Given the description of an element on the screen output the (x, y) to click on. 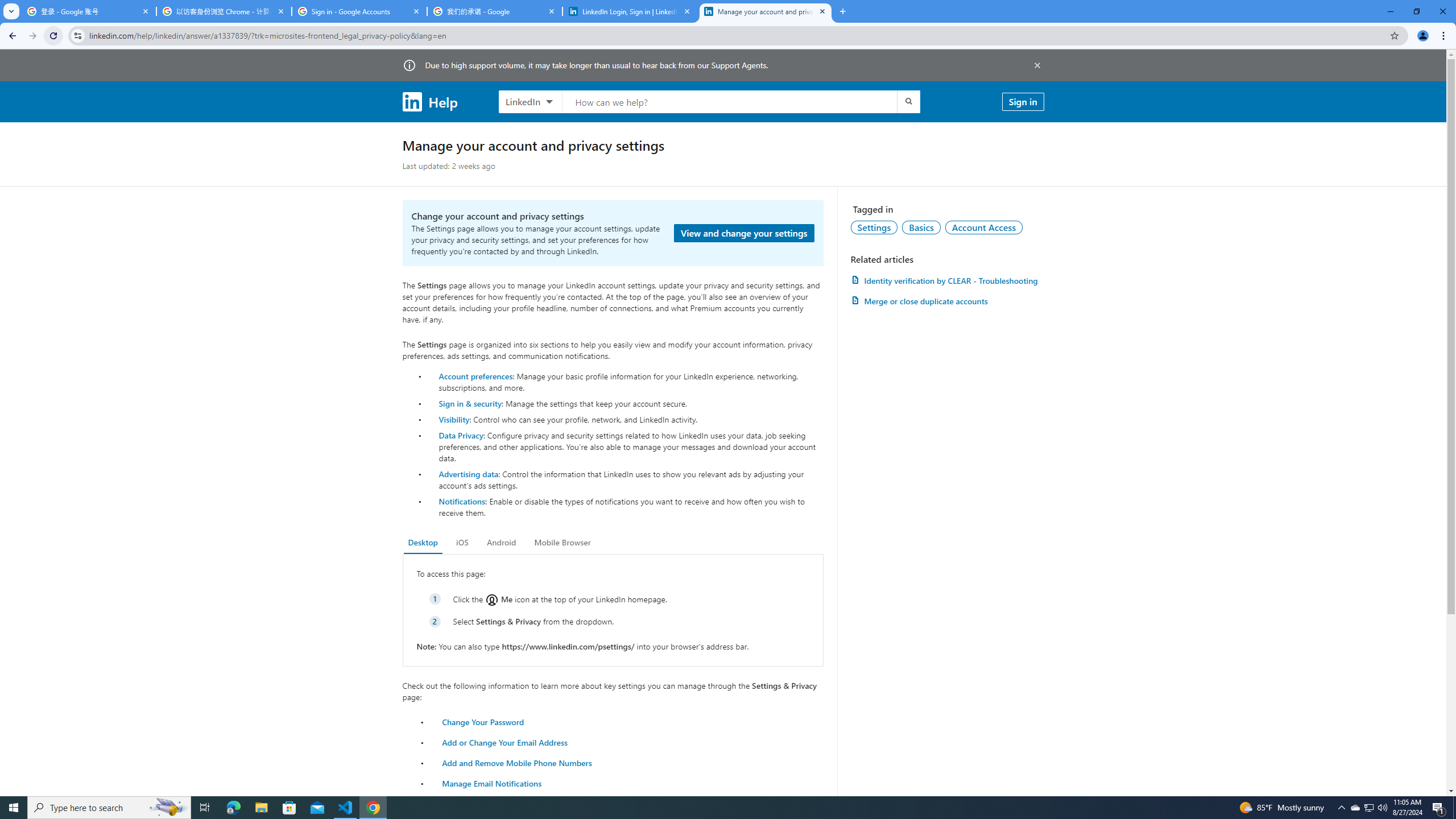
Sign in - Google Accounts (359, 11)
iOS (462, 542)
Change Your Password (483, 721)
AutomationID: topic-link-a51 (921, 227)
LinkedIn products to search, LinkedIn selected (530, 101)
Visibility (454, 419)
